Given the description of an element on the screen output the (x, y) to click on. 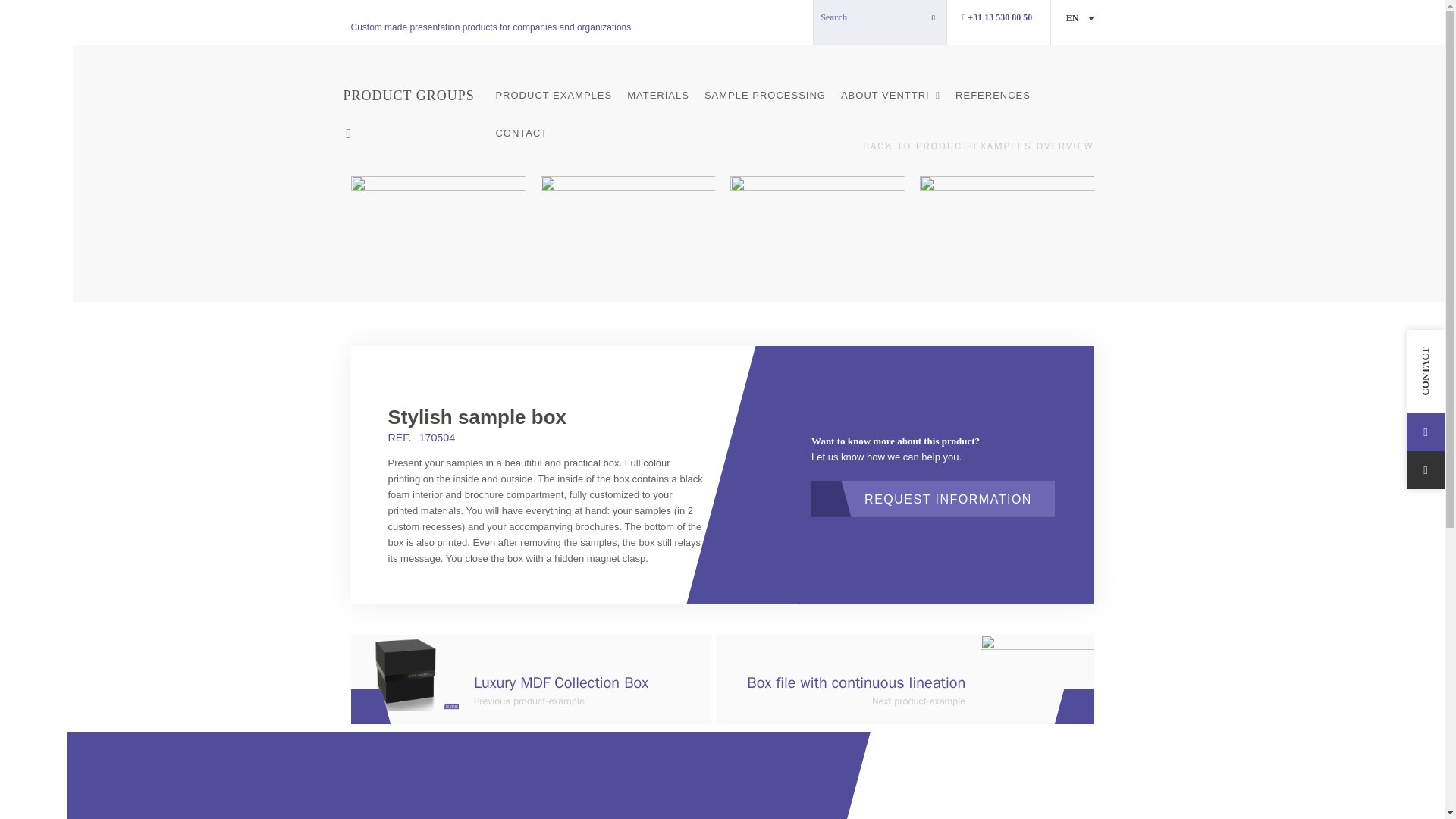
CONTACT (520, 133)
PRODUCT GROUPS (410, 95)
EN (1079, 17)
MATERIALS (658, 95)
ABOUT VENTTRI (889, 95)
PRODUCT GROUPS (411, 95)
SAMPLE PROCESSING (764, 95)
REFERENCES (992, 95)
PRODUCT EXAMPLES (553, 95)
